Given the description of an element on the screen output the (x, y) to click on. 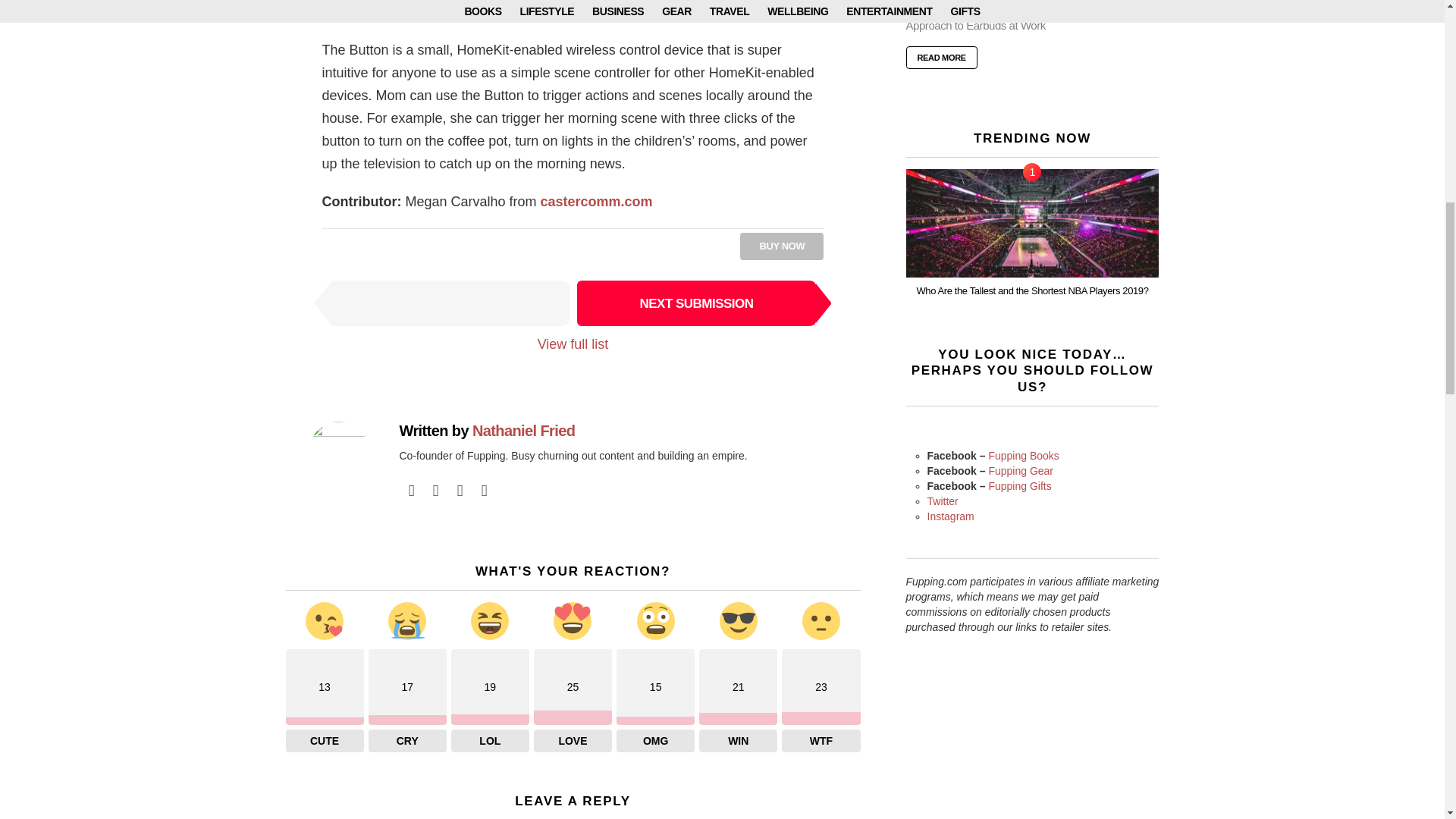
BUY NOW (781, 246)
castercomm.com (596, 201)
Who Are the Tallest and the Shortest NBA Players 2019? (1031, 222)
View full list (572, 343)
NEXT SUBMISSION (695, 302)
